Given the description of an element on the screen output the (x, y) to click on. 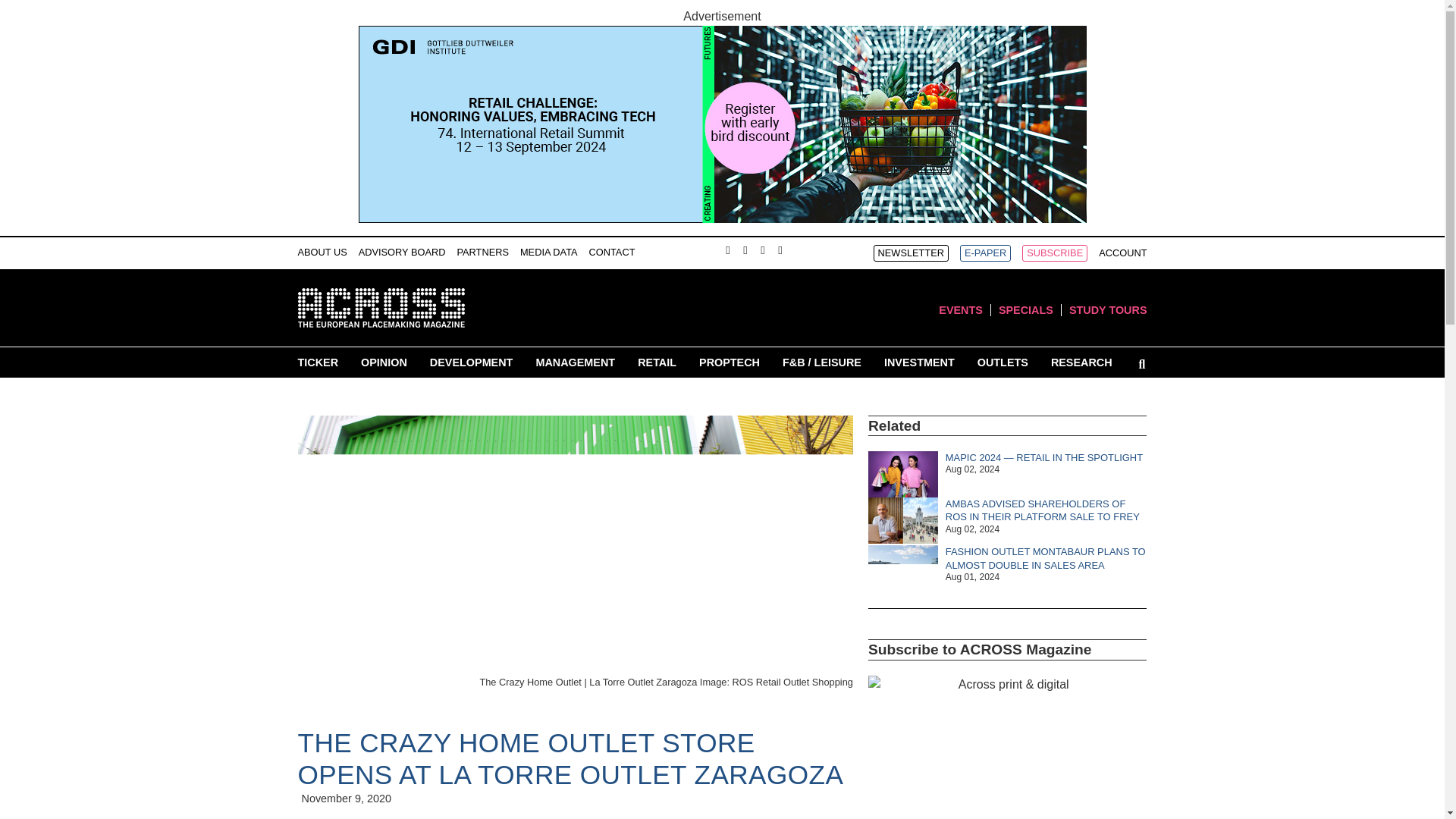
CONTACT (611, 252)
MEDIA DATA (548, 252)
ADVISORY BOARD (401, 252)
OPINION (384, 362)
Subscribe to the ACROSS Newsletter (911, 252)
MANAGEMENT (574, 362)
PROPTECH (729, 362)
DEVELOPMENT (471, 362)
EVENTS (960, 309)
SPECIALS (1025, 309)
RETAIL (657, 362)
ABOUT US (321, 252)
E-PAPER (984, 252)
ACCOUNT (1123, 252)
TICKER (317, 362)
